Given the description of an element on the screen output the (x, y) to click on. 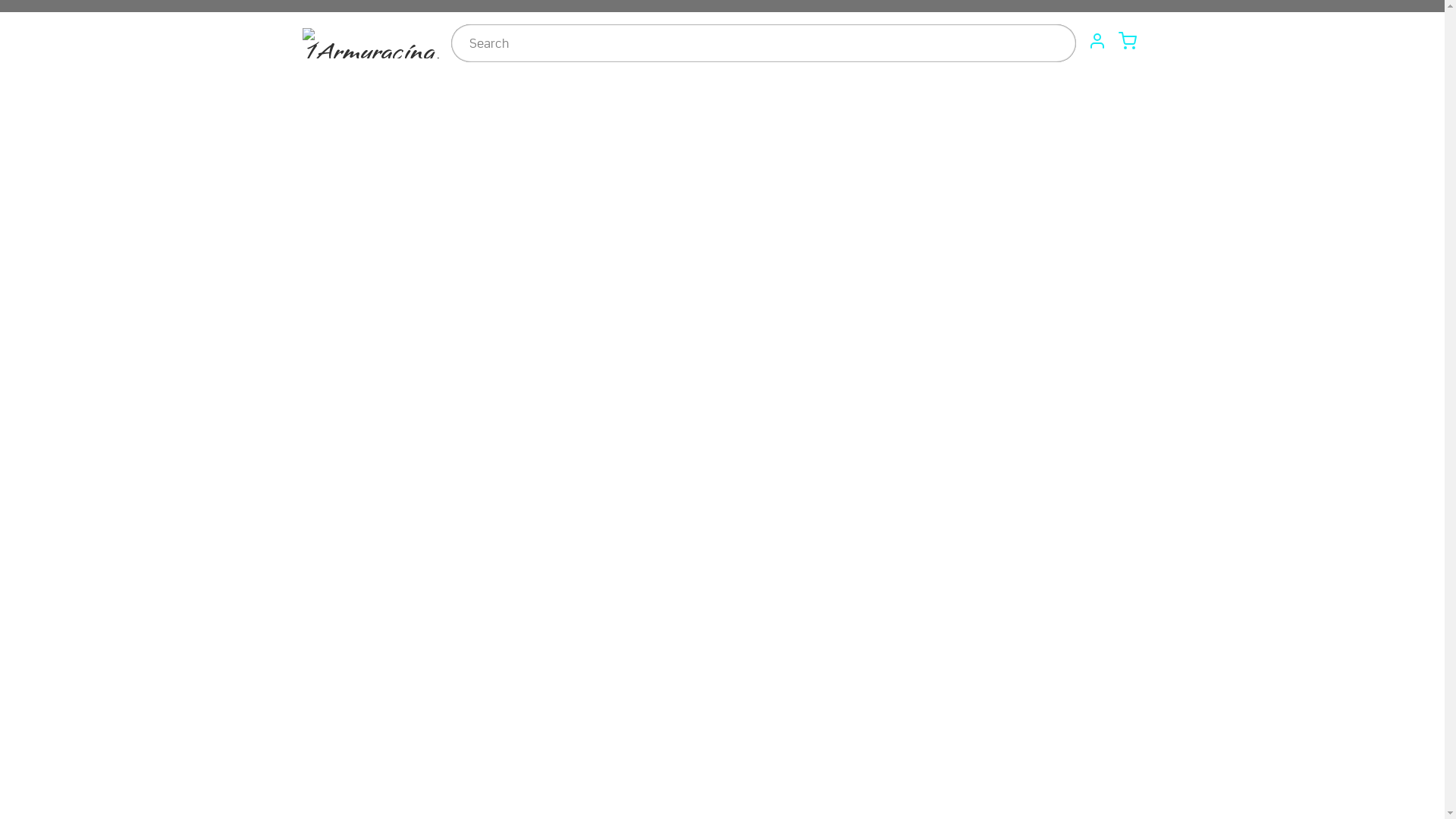
Cart Element type: text (1126, 40)
Account Element type: text (1096, 40)
